Given the description of an element on the screen output the (x, y) to click on. 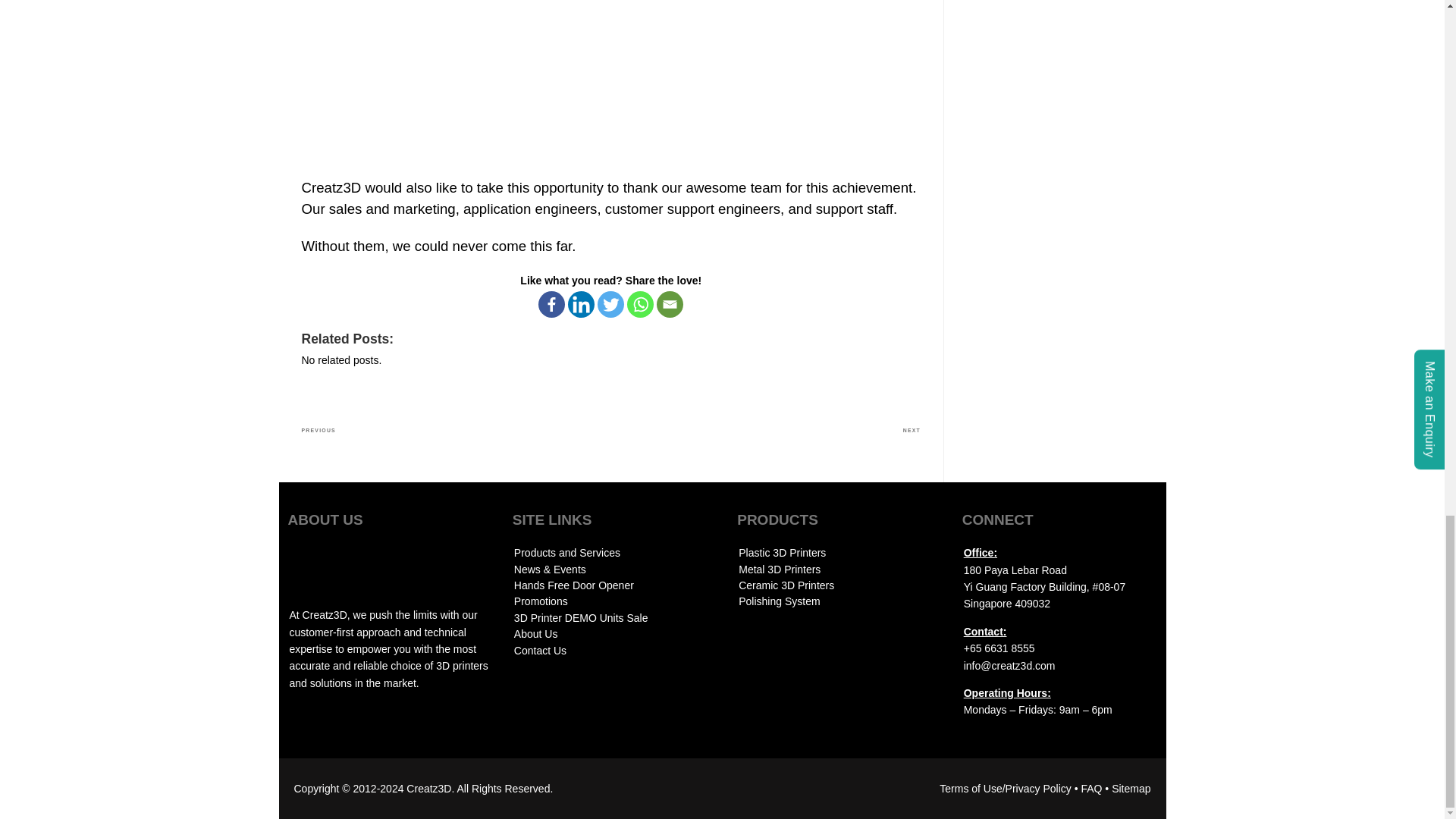
Like Us On Facebook (359, 724)
Email (669, 304)
Linkedin (580, 304)
Visit Us On Facebook (359, 724)
Facebook (551, 304)
Twitter (610, 304)
Whatsapp (640, 304)
Connect On Linkedin (311, 724)
Connect With Us On Linkedin (311, 724)
